Given the description of an element on the screen output the (x, y) to click on. 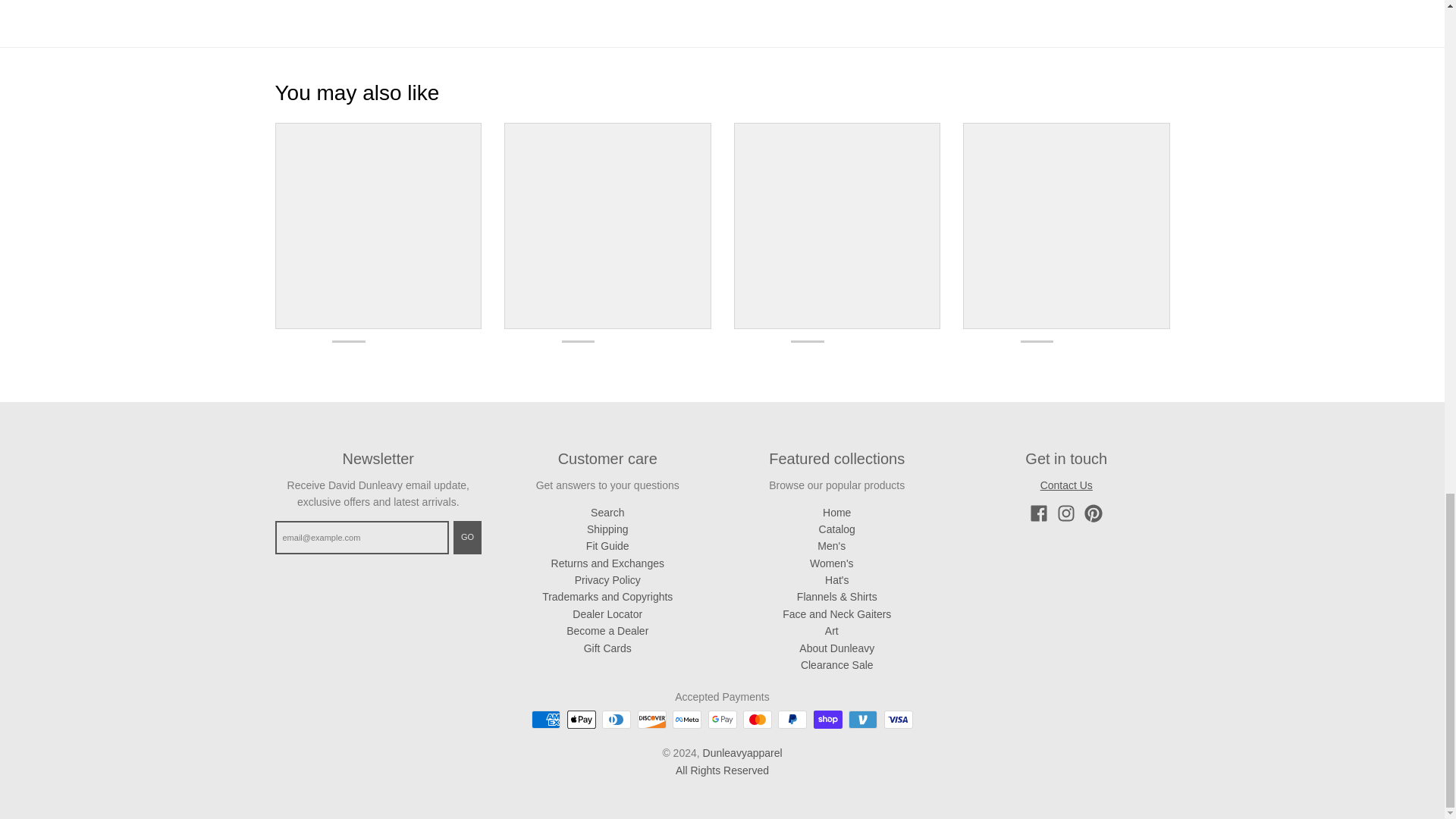
Facebook - Dunleavyapparel (1038, 513)
Instagram - Dunleavyapparel (1066, 513)
Pinterest - Dunleavyapparel (1093, 513)
